Given the description of an element on the screen output the (x, y) to click on. 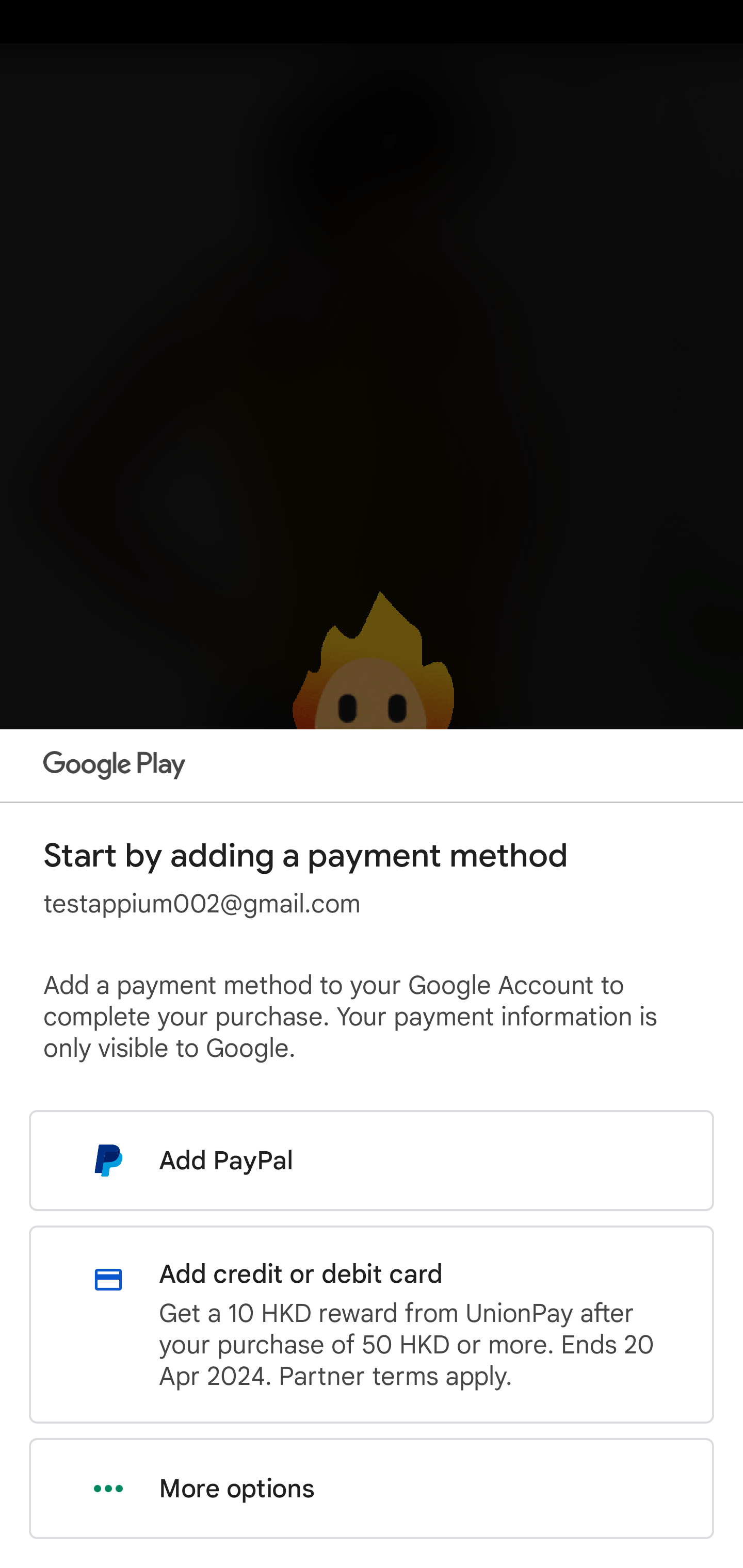
Add PayPal (371, 1160)
More options (371, 1488)
